Given the description of an element on the screen output the (x, y) to click on. 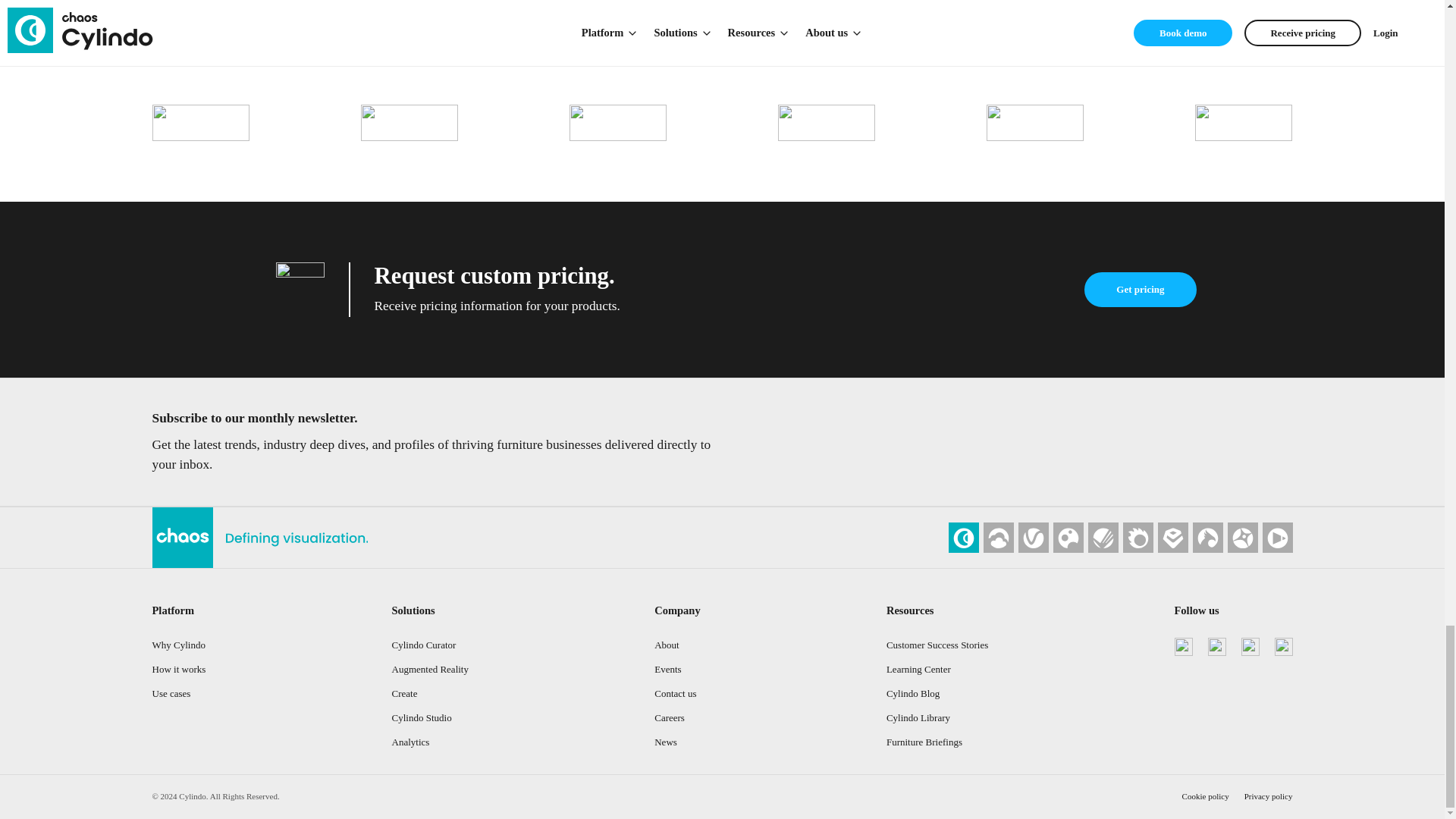
Get pricing (1139, 289)
How it works (178, 669)
Why Cylindo (178, 645)
